Given the description of an element on the screen output the (x, y) to click on. 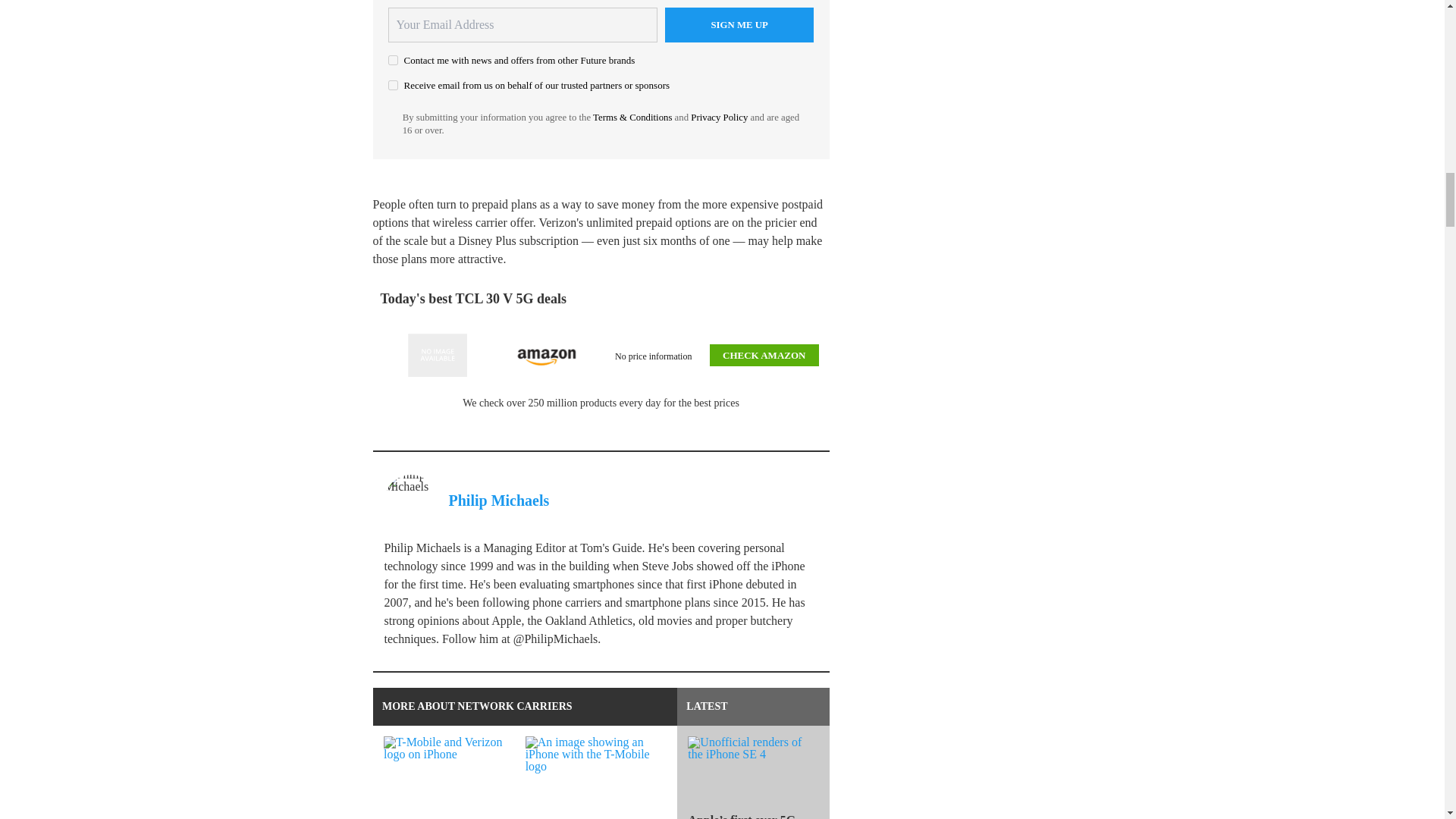
on (392, 60)
Sign me up (739, 24)
on (392, 85)
View Similar Amazon US (437, 354)
Amazon (546, 354)
